Given the description of an element on the screen output the (x, y) to click on. 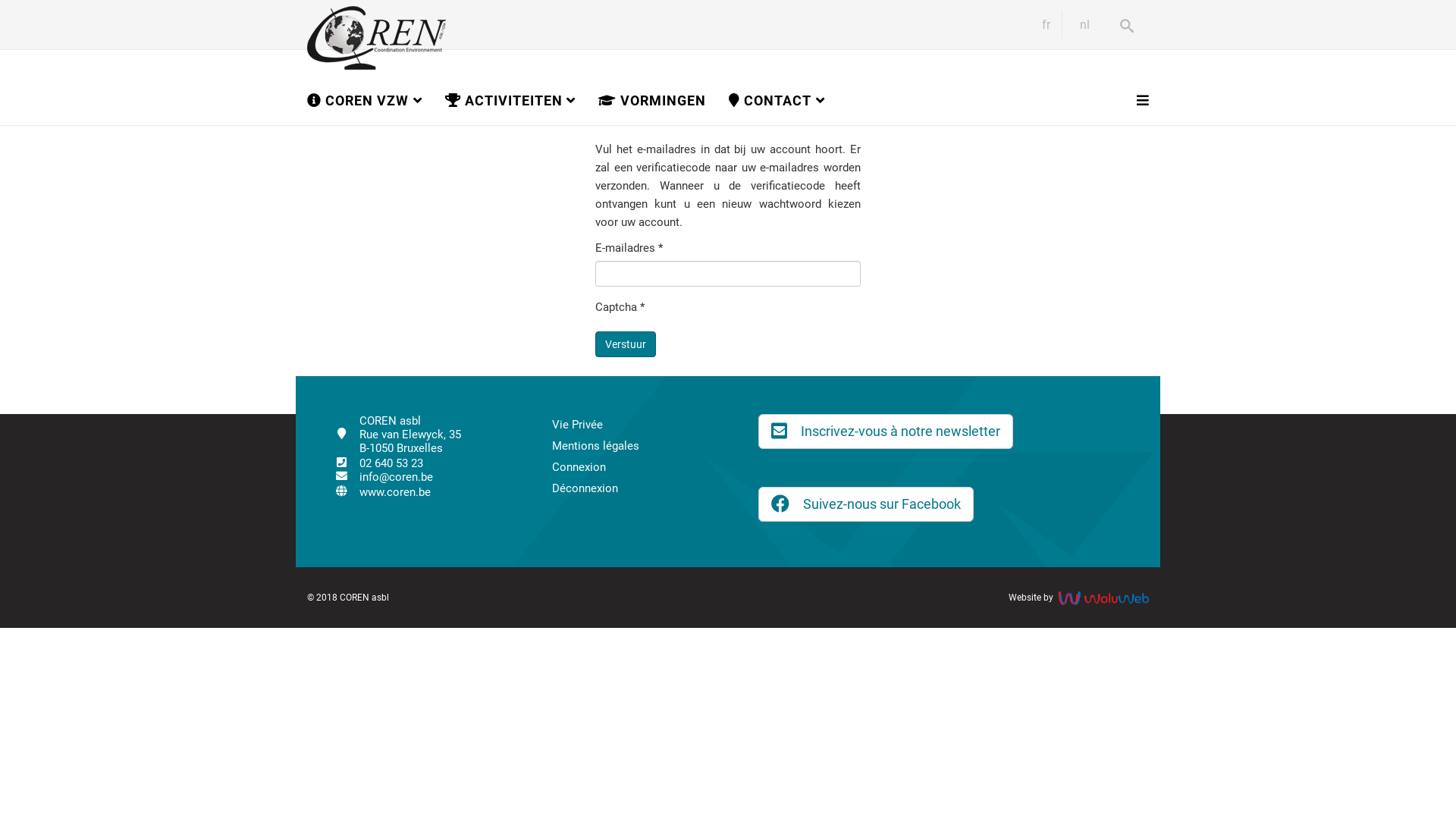
COREN VZW Element type: text (376, 100)
www.coren.be Element type: text (441, 492)
Suivez-nous sur Facebook Element type: text (865, 503)
nl Element type: text (1084, 23)
CONTACT Element type: text (787, 100)
info@coren.be Element type: text (441, 477)
Woluweb Element type: hover (1102, 598)
Connexion Element type: text (578, 466)
VORMINGEN Element type: text (663, 100)
ACTIVITEITEN Element type: text (521, 100)
Rue van Elewyck, 35
B-1050 Bruxelles Element type: text (441, 441)
Verstuur Element type: text (625, 344)
fr Element type: text (1045, 23)
